Given the description of an element on the screen output the (x, y) to click on. 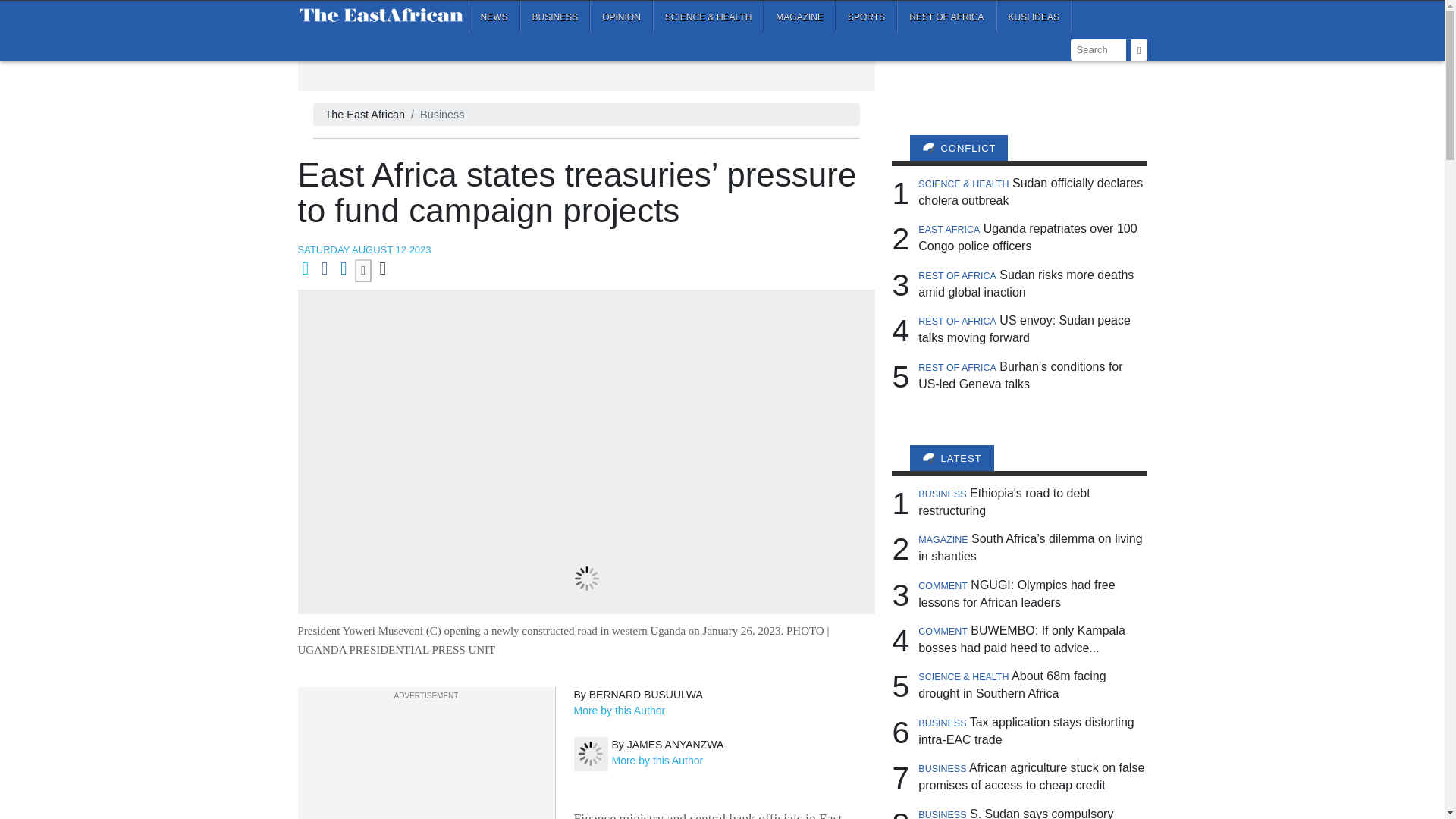
BUSINESS (555, 16)
SPORTS (865, 16)
MAGAZINE (798, 16)
OPINION (620, 16)
NEWS (493, 16)
